Given the description of an element on the screen output the (x, y) to click on. 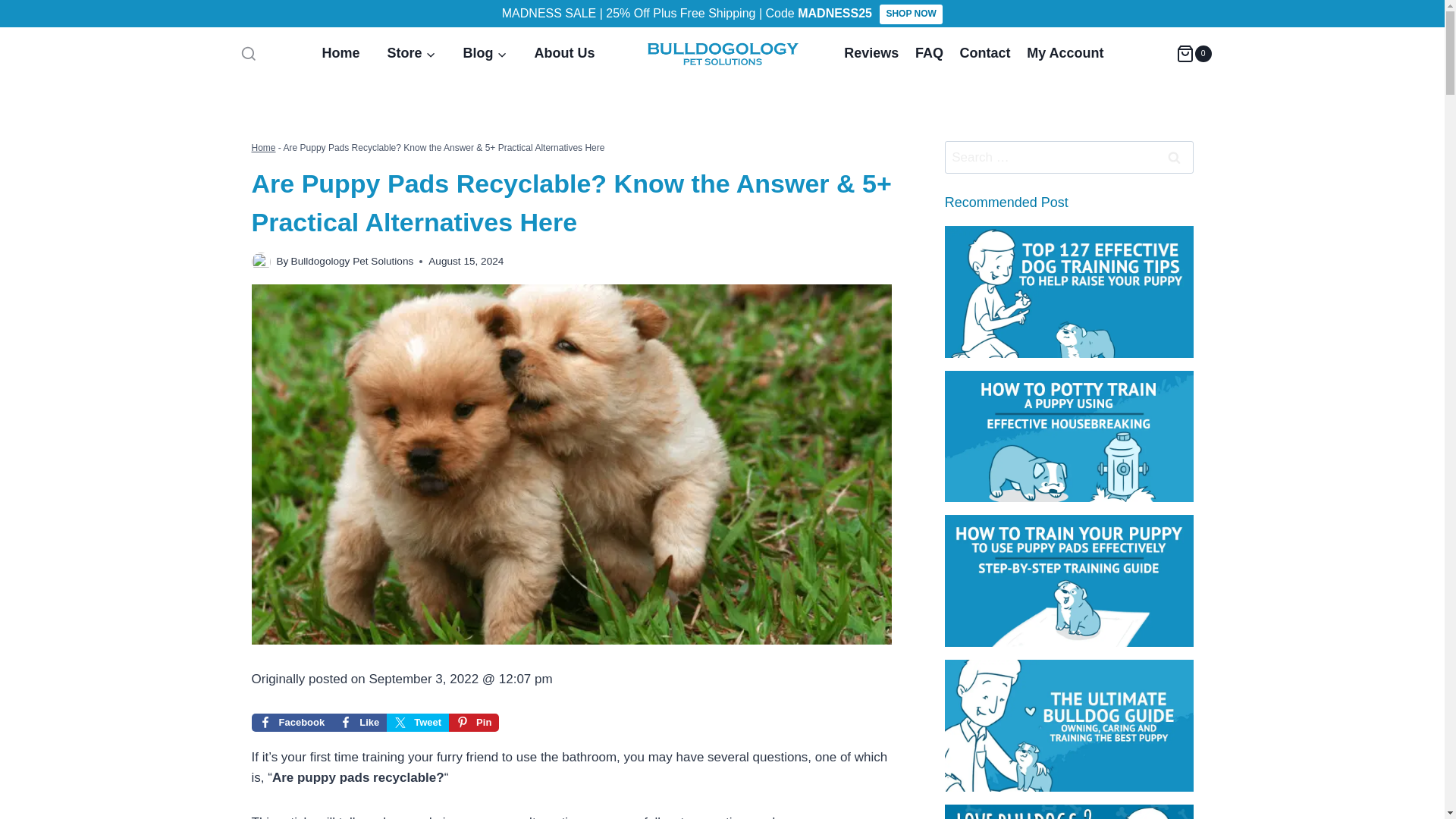
Home (339, 53)
SHOP NOW (910, 14)
Like on Facebook (359, 722)
Search (1174, 156)
Store (410, 53)
Search (1174, 156)
Share on Twitter (417, 722)
Share on Facebook (292, 722)
Blog (483, 53)
Share on Pinterest (473, 722)
